Given the description of an element on the screen output the (x, y) to click on. 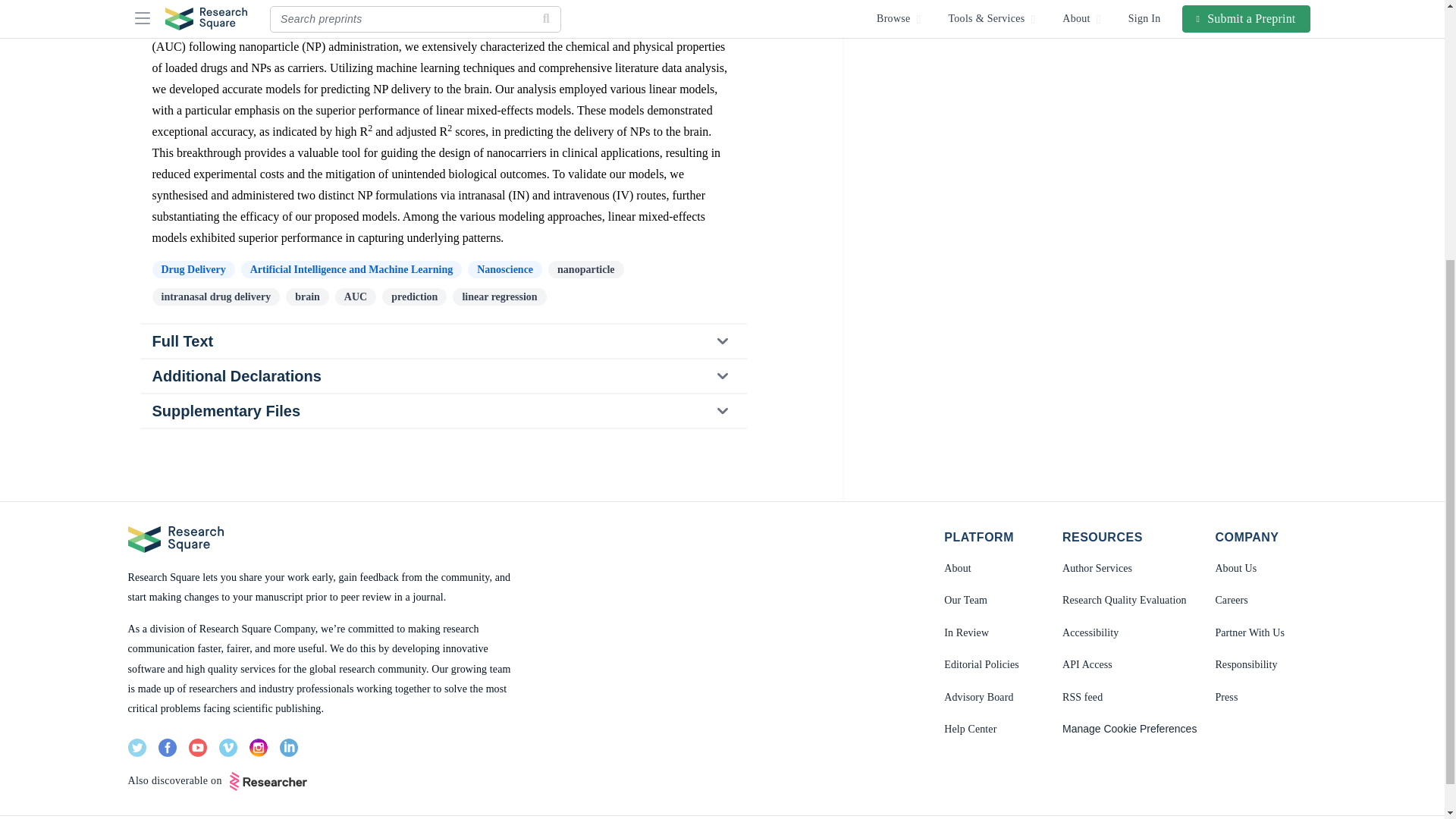
Supplementary Files (442, 410)
Drug Delivery (192, 269)
Nanoscience (504, 269)
Additional Declarations (442, 376)
Artificial Intelligence and Machine Learning (352, 269)
Full Text (442, 340)
